Given the description of an element on the screen output the (x, y) to click on. 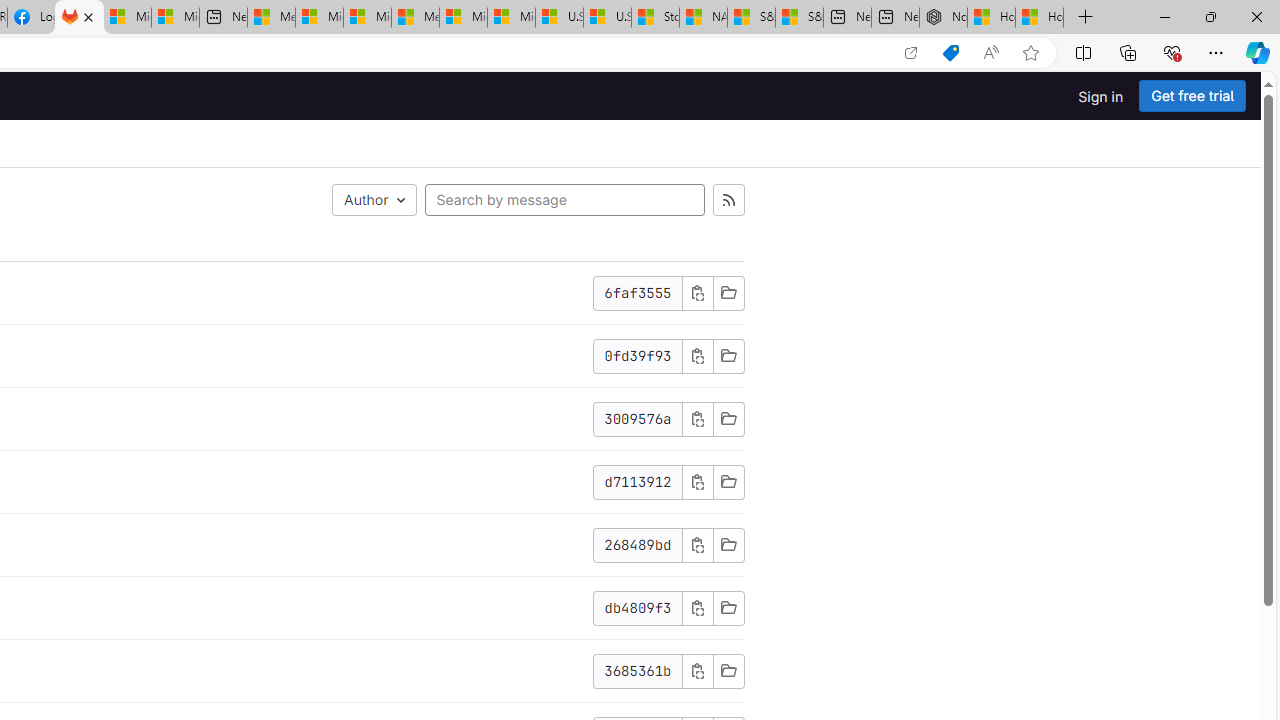
Class: s16 gl-icon gl-button-icon  (697, 670)
Search by message (564, 200)
Open in app (910, 53)
Sign in (1100, 95)
Sign in (1100, 95)
Author (374, 200)
